Given the description of an element on the screen output the (x, y) to click on. 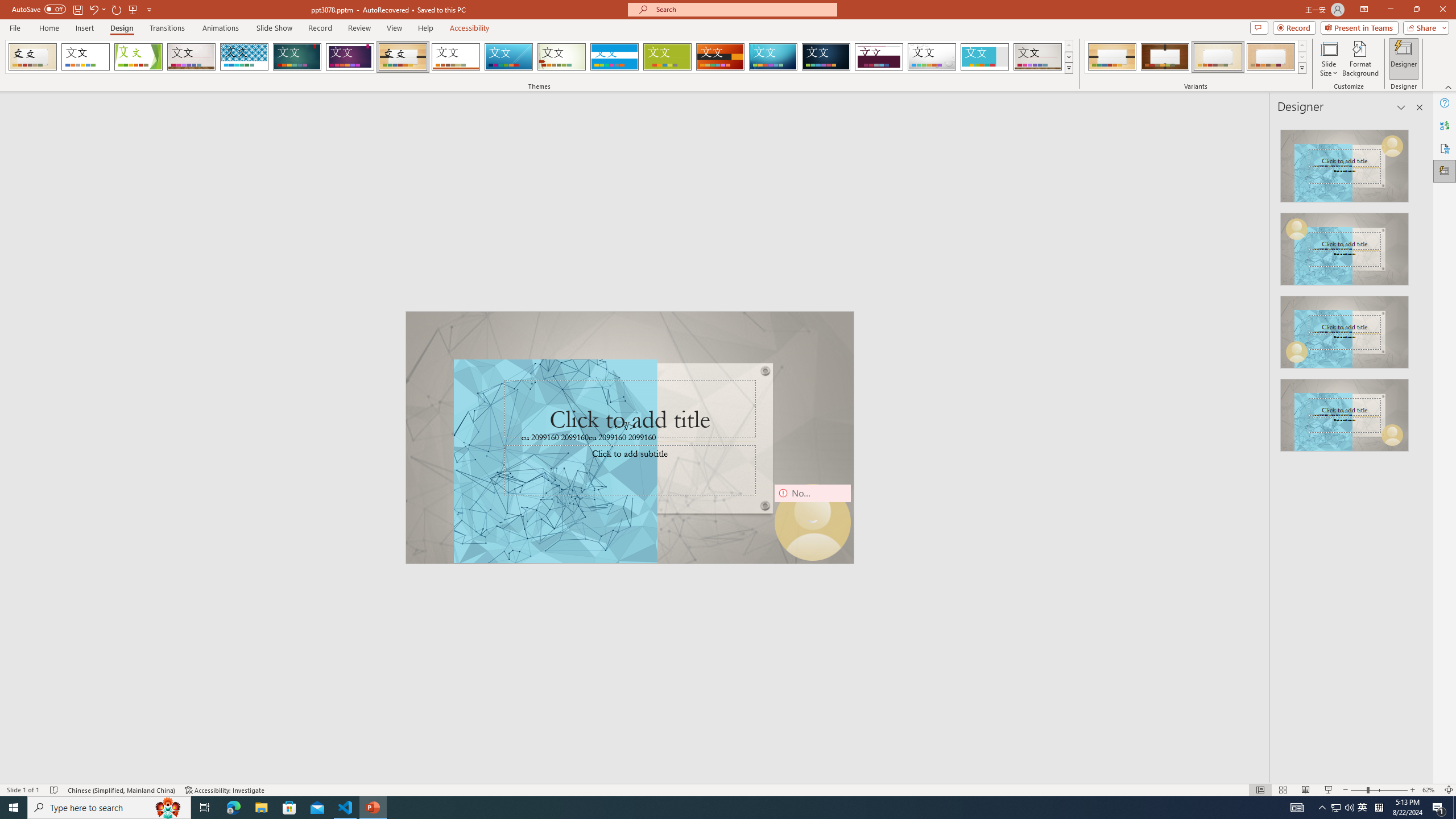
wangyian_webcrawler - DSW (23, 249)
Tab actions (414, 183)
Earth - Wikipedia (23, 415)
Outline Section (188, 615)
Class: menubar compact overflow-menu-only (76, 183)
